Given the description of an element on the screen output the (x, y) to click on. 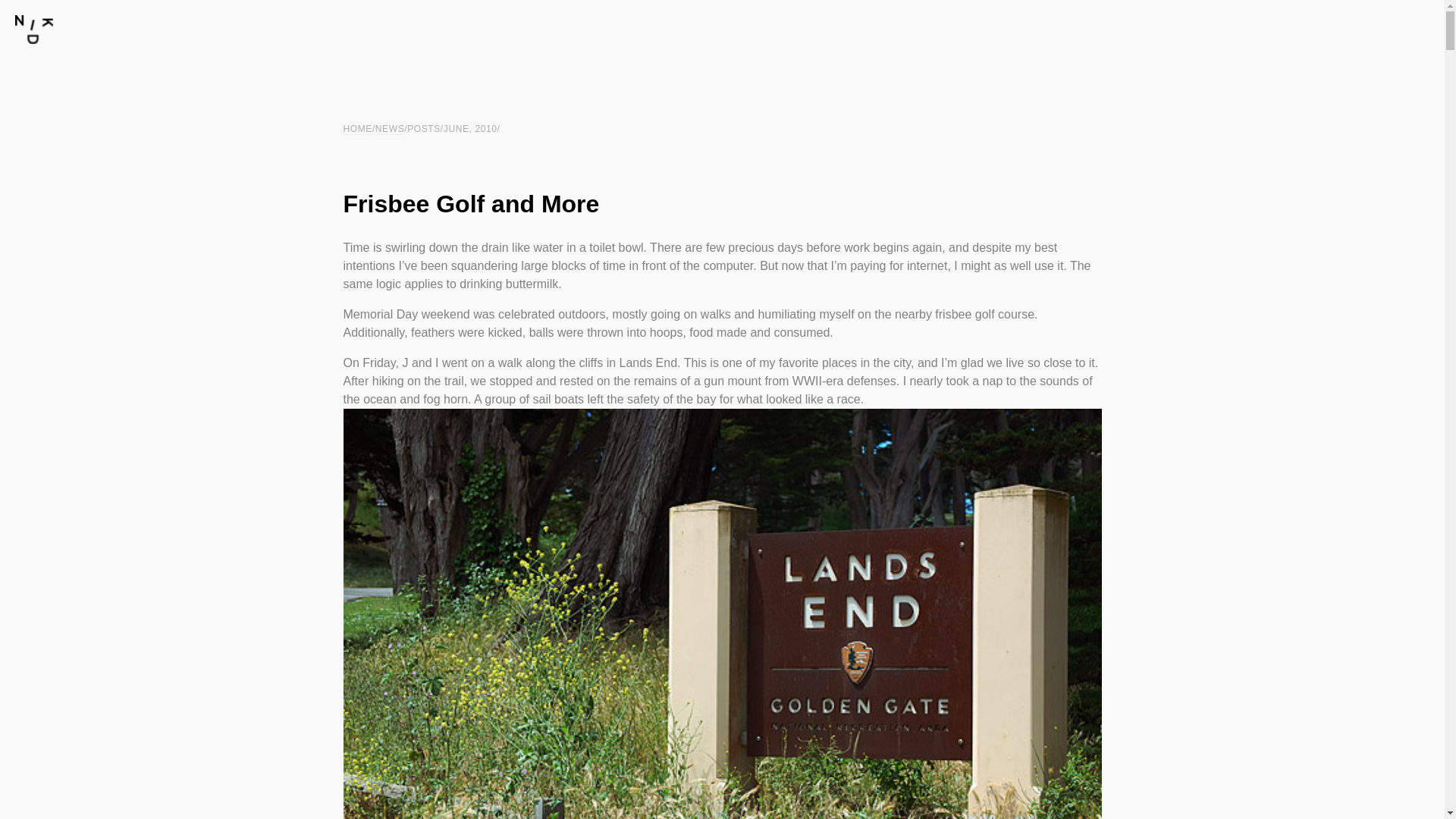
HOME (356, 129)
NEWS (389, 129)
Permalink to Frisbee Golf and More (470, 203)
Frisbee Golf and More (470, 203)
